Given the description of an element on the screen output the (x, y) to click on. 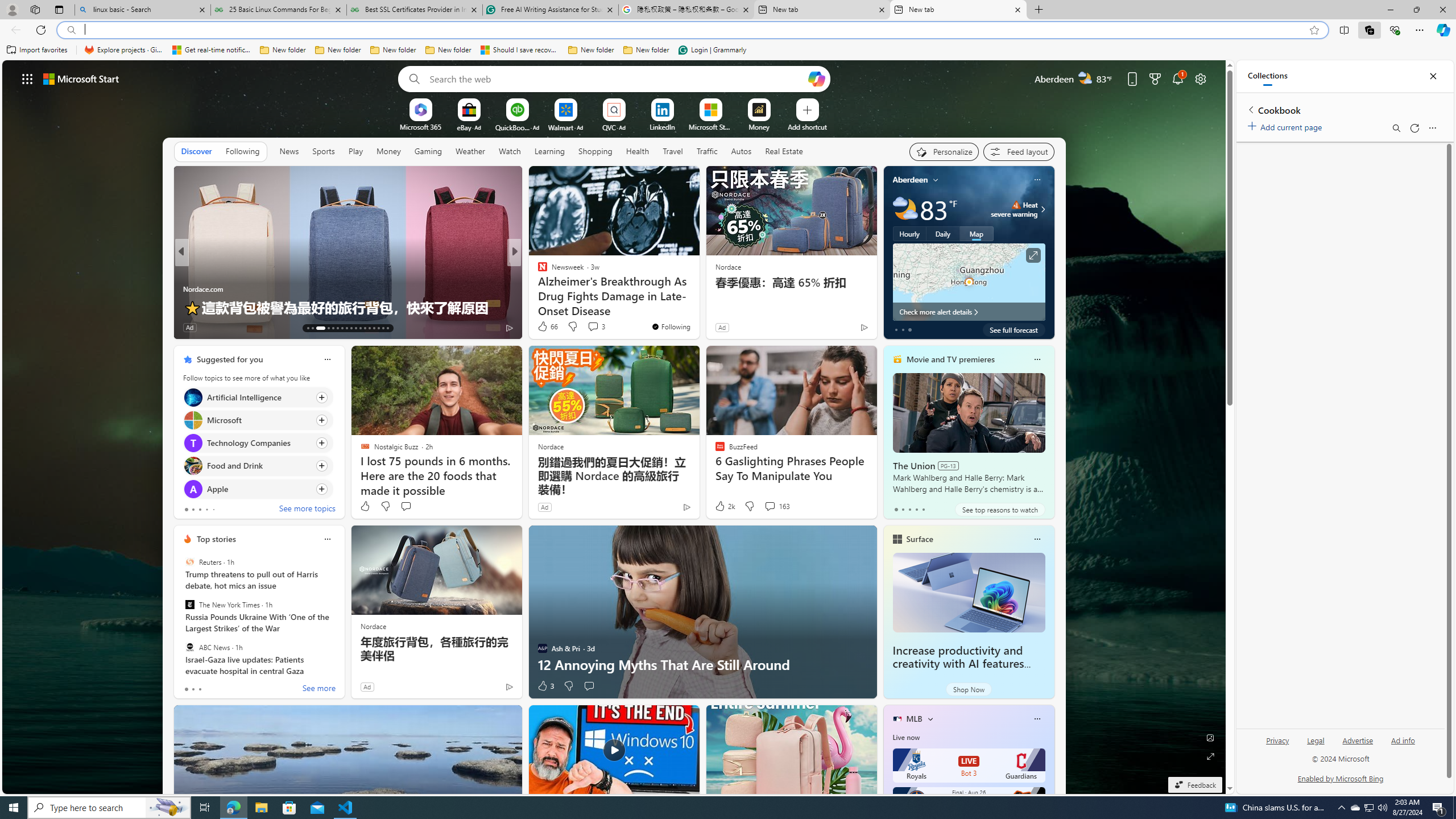
Check more alert details (968, 311)
Body Network (537, 270)
9 replacements for Windows features that Microsoft abandoned (697, 298)
Hourly (909, 233)
AutomationID: tab-29 (387, 328)
AutomationID: tab-15 (317, 328)
Maritime Fixers (697, 307)
Larger map  (968, 282)
Add current page (1286, 124)
